Given the description of an element on the screen output the (x, y) to click on. 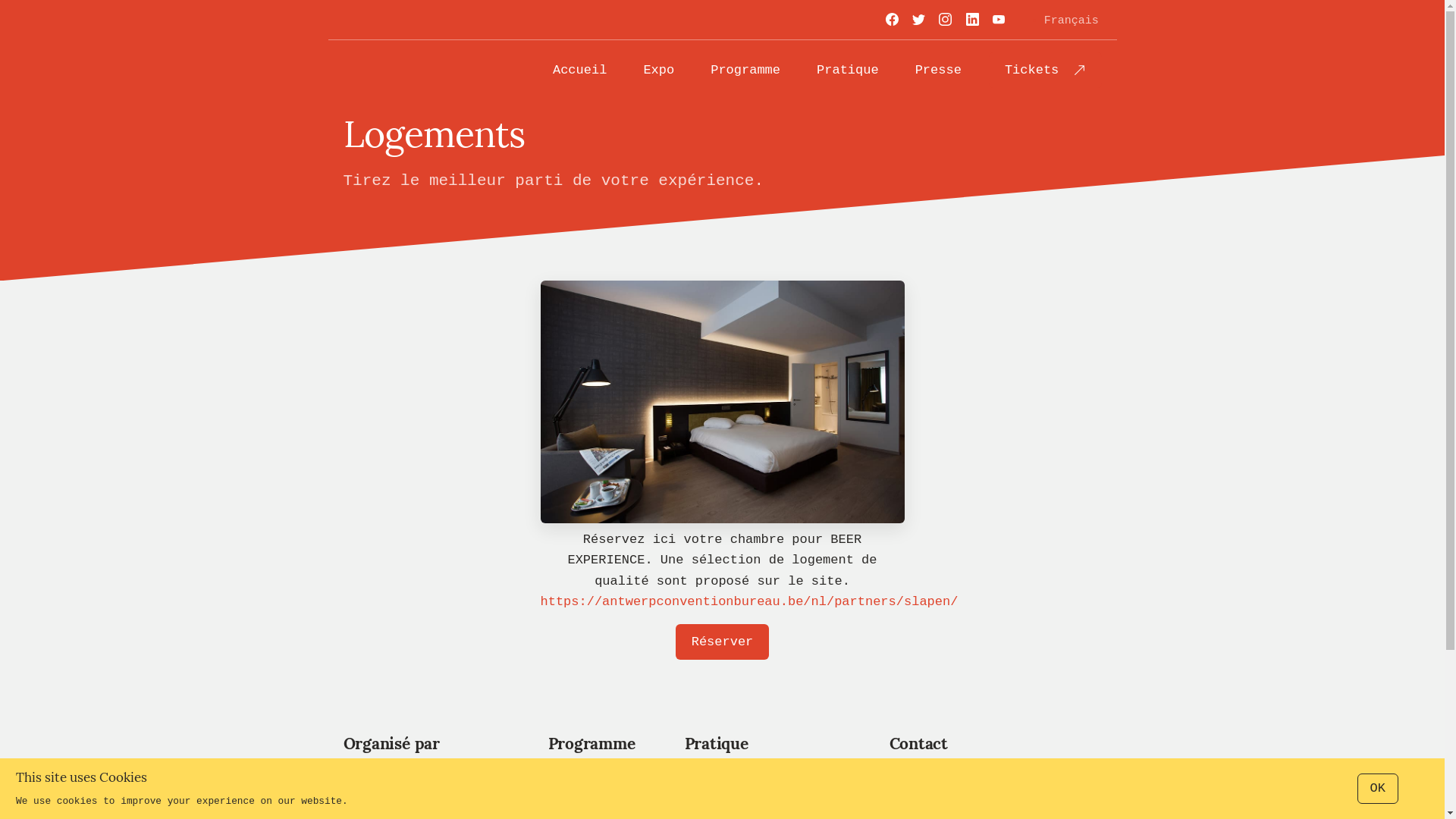
https://antwerpconventionbureau.be/nl/partners/slapen/ Element type: text (748, 601)
Tickets Element type: text (1044, 69)
beerexperience@becomev.com Element type: text (994, 771)
OK Element type: text (1377, 788)
Presse Element type: text (938, 69)
Lieu Element type: text (756, 770)
Programme Element type: text (745, 69)
Exposition Element type: text (585, 797)
+32 477 47 44 07 Element type: text (994, 800)
S'y rendre Element type: text (756, 797)
Pratique Element type: text (847, 69)
Accueil Element type: text (579, 69)
Expo Element type: text (658, 69)
Networking Element type: text (585, 770)
